Given the description of an element on the screen output the (x, y) to click on. 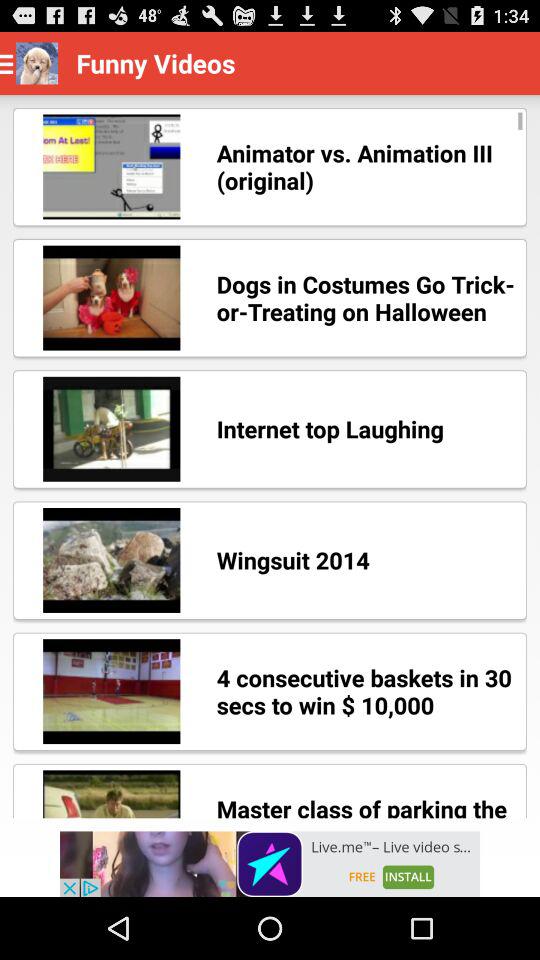
opens the advertisement (270, 864)
